Given the description of an element on the screen output the (x, y) to click on. 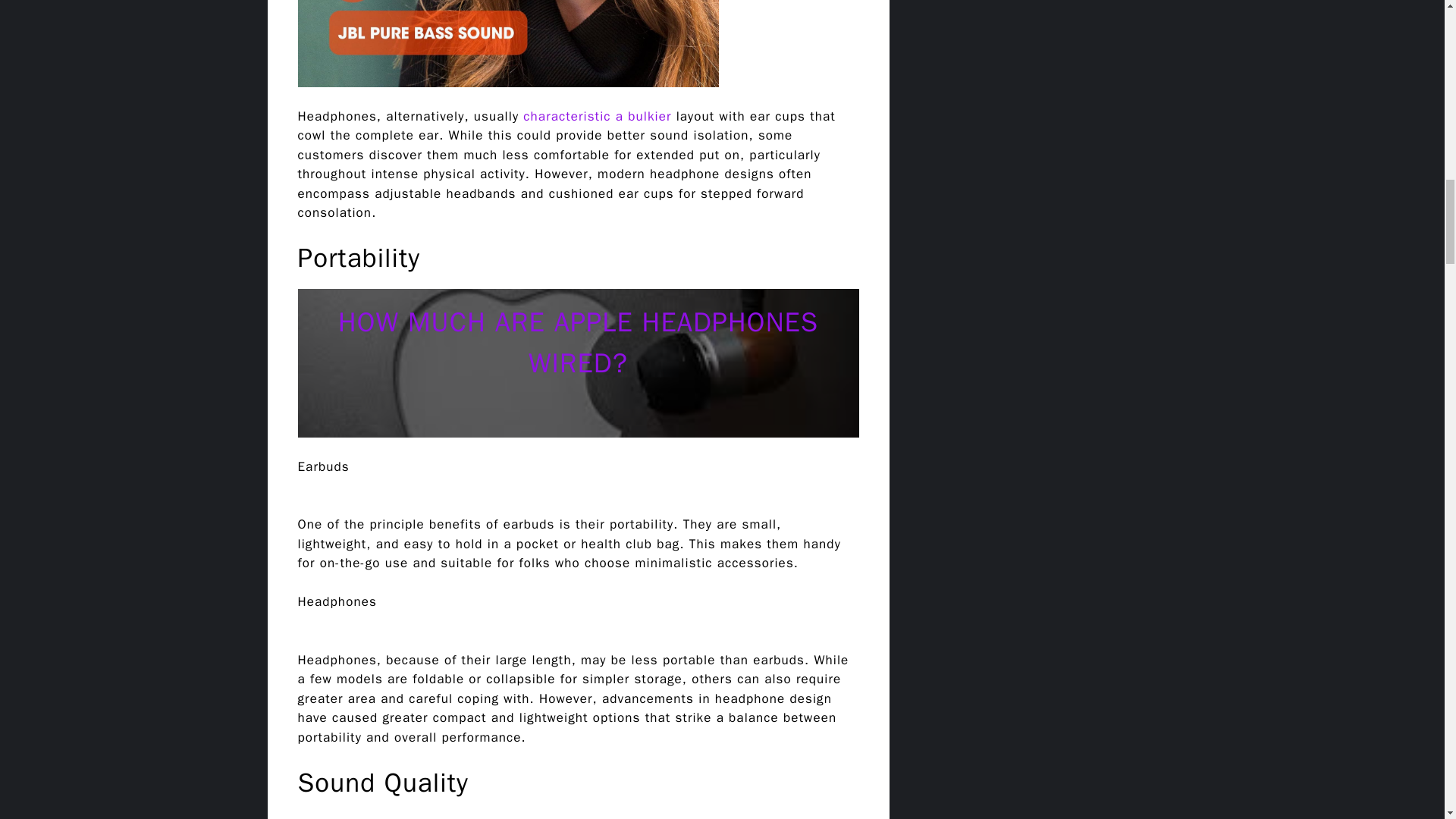
HOW MUCH ARE APPLE HEADPHONES WIRED? (577, 342)
characteristic a bulkier (596, 116)
